Given the description of an element on the screen output the (x, y) to click on. 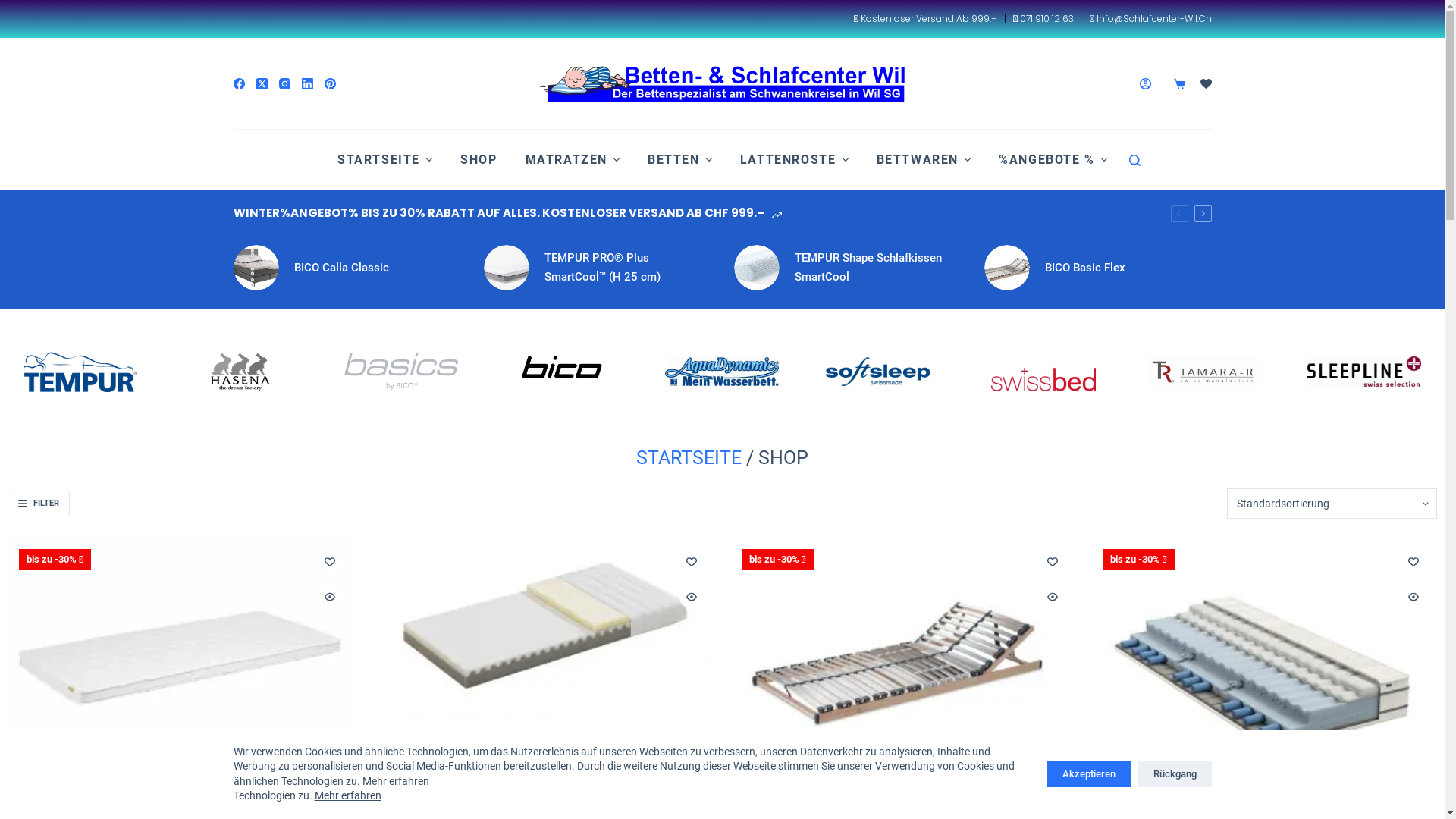
LATTENROSTE Element type: text (793, 159)
Mehr erfahren Element type: text (346, 795)
BICO Calla Classic Element type: text (347, 267)
BETTWAREN Element type: text (923, 159)
%ANGEBOTE % Element type: text (1053, 159)
MATRATZEN Element type: text (572, 159)
Skip to content Element type: text (15, 7)
STARTSEITE Element type: text (688, 457)
SHOP Element type: text (478, 159)
Akzeptieren Element type: text (1087, 773)
TEMPUR Shape Schlafkissen SmartCool Element type: text (847, 267)
FILTER Element type: text (38, 503)
BICO Basic Flex Element type: text (1097, 267)
BETTEN Element type: text (679, 159)
STARTSEITE Element type: text (384, 159)
